Given the description of an element on the screen output the (x, y) to click on. 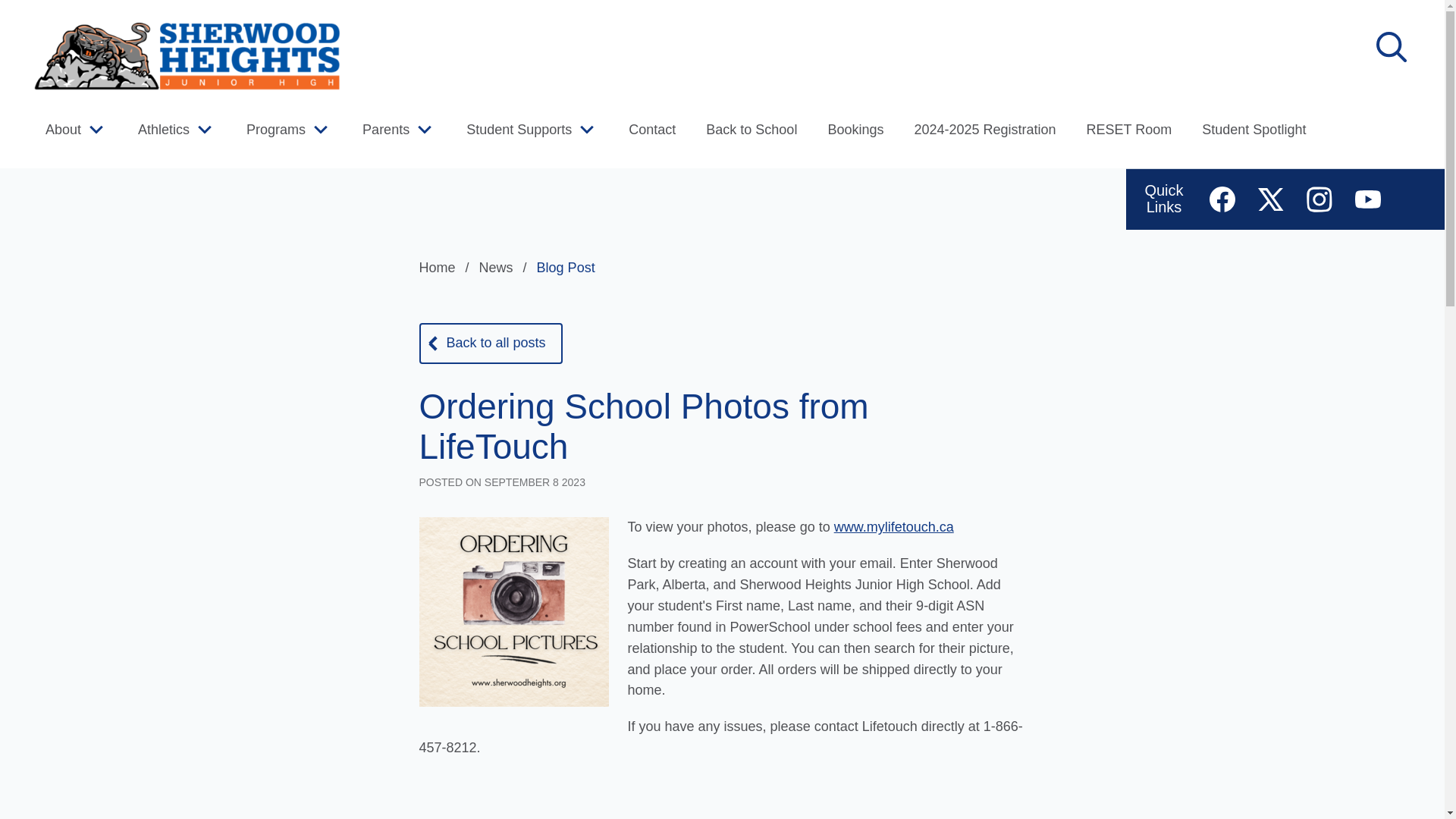
Sherwood Heights Junior High's Facebook (1221, 199)
Sherwood Heights Junior High's YouTube (1367, 199)
Sherwood Heights Junior High's Instagram (1319, 199)
Home (446, 267)
Quick Links (1163, 199)
Sherwood Heights Junior High's X (1270, 199)
Programs (275, 129)
home (185, 56)
Back to Blog (490, 342)
Athletics (163, 129)
About (63, 129)
News (505, 267)
